Given the description of an element on the screen output the (x, y) to click on. 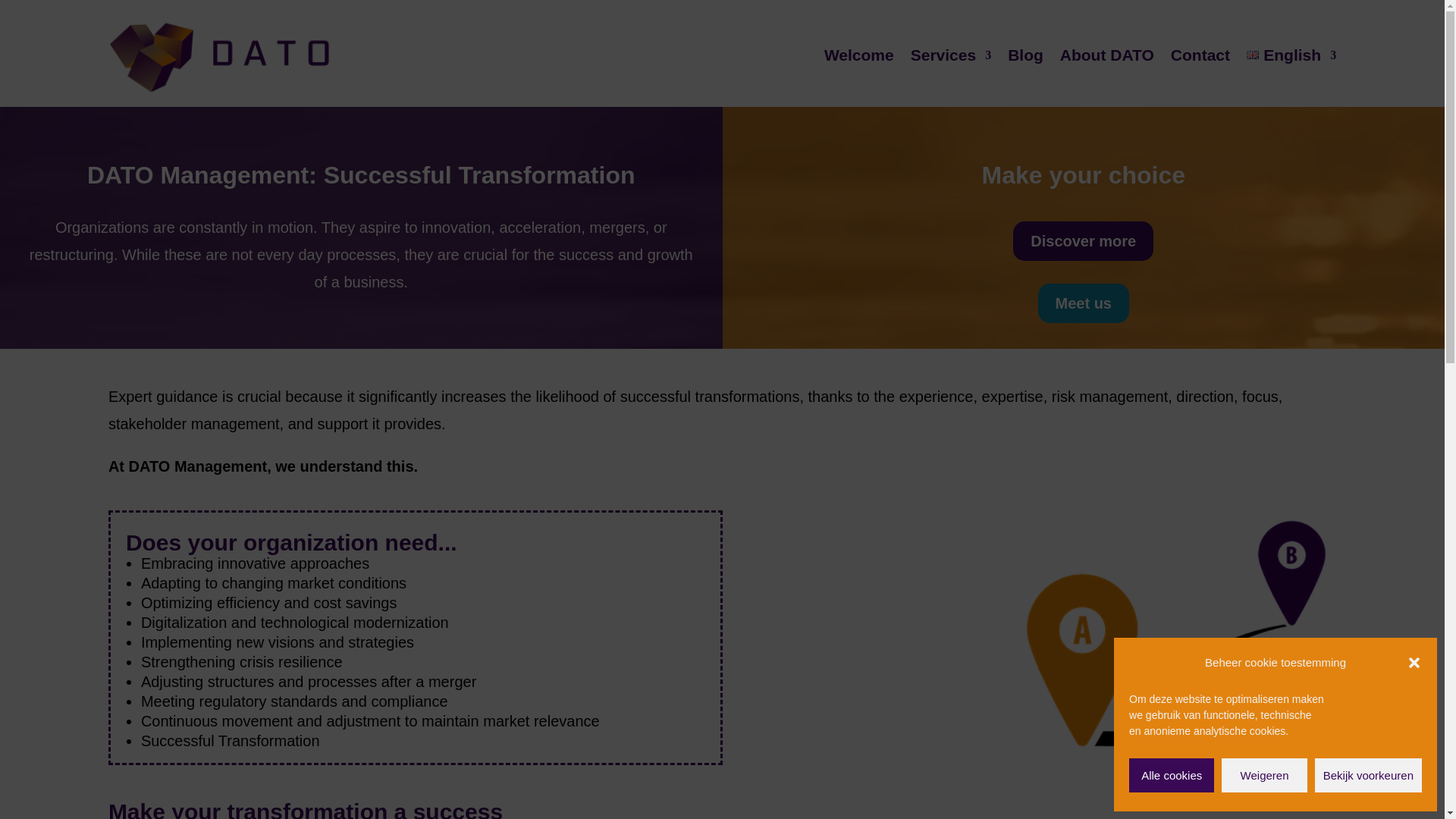
Discover more (1083, 241)
Bekijk voorkeuren (1368, 775)
Alle cookies (1171, 775)
About DATO (1106, 55)
Meet us (1083, 302)
Weigeren (1263, 775)
English (1291, 55)
Services (951, 55)
